Given the description of an element on the screen output the (x, y) to click on. 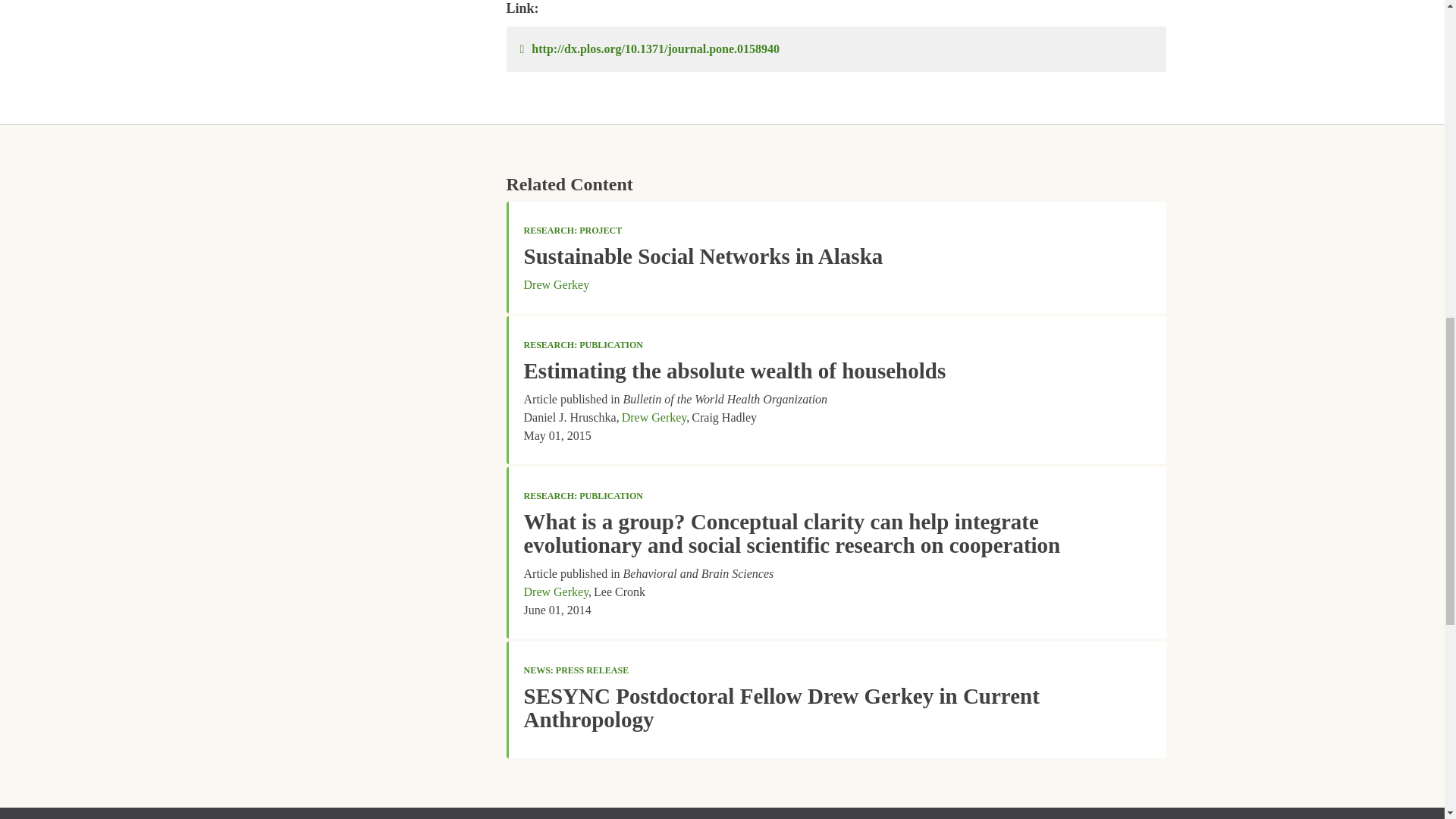
Drew Gerkey (555, 284)
Estimating the absolute wealth of households (733, 370)
Sustainable Social Networks in Alaska (702, 256)
RESEARCH: PUBLICATION (582, 344)
RESEARCH: PROJECT (571, 230)
Drew Gerkey (654, 417)
RESEARCH: PUBLICATION (582, 495)
Drew Gerkey (555, 591)
NEWS: PRESS RELEASE (575, 670)
